Given the description of an element on the screen output the (x, y) to click on. 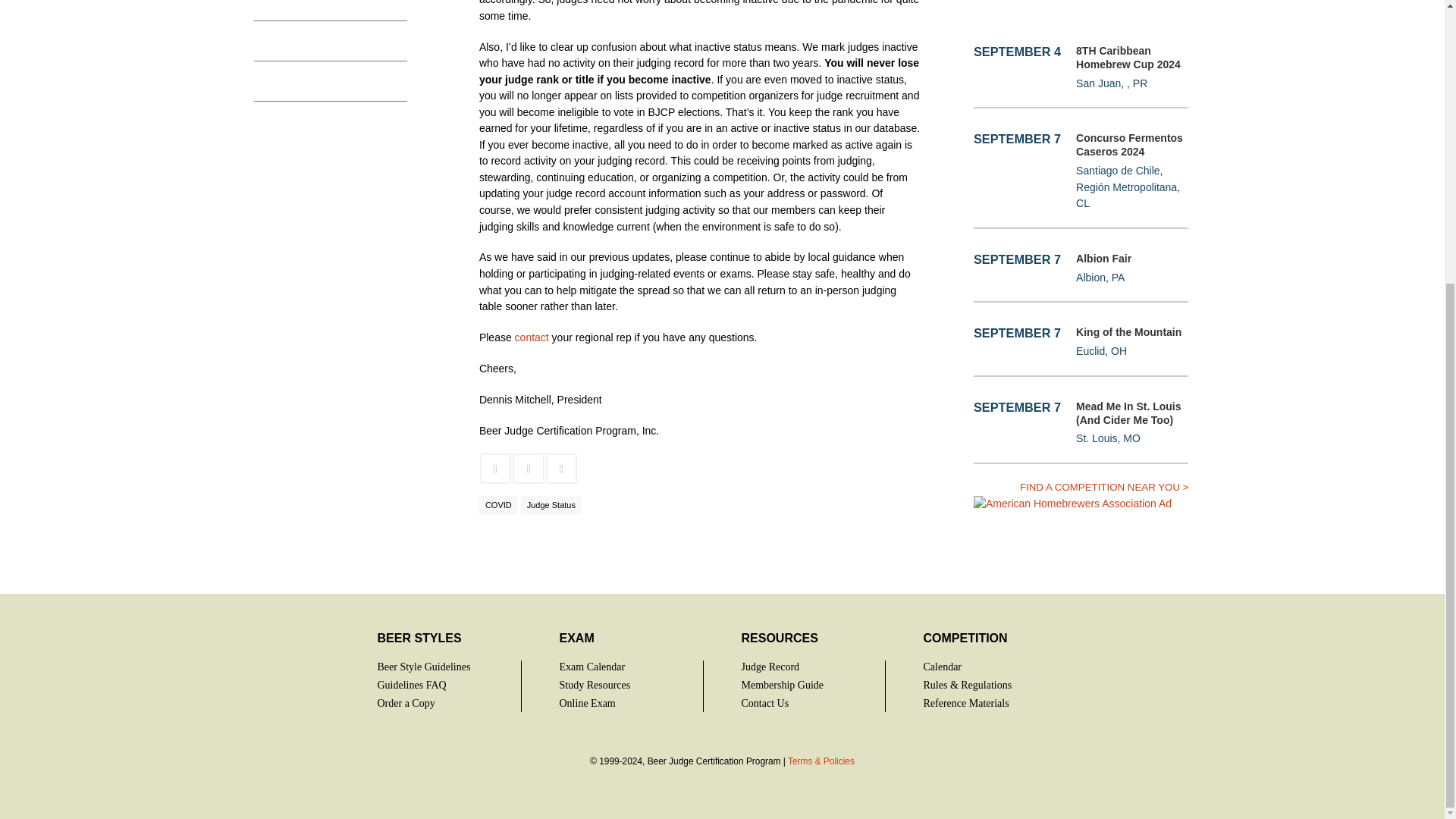
Share this via Email (562, 468)
Share this on Twitter (528, 468)
Beer Style Guidelines (423, 666)
Share this on Facebook (496, 468)
Competition Calendar (1104, 487)
Guidelines FAQ (411, 685)
